Given the description of an element on the screen output the (x, y) to click on. 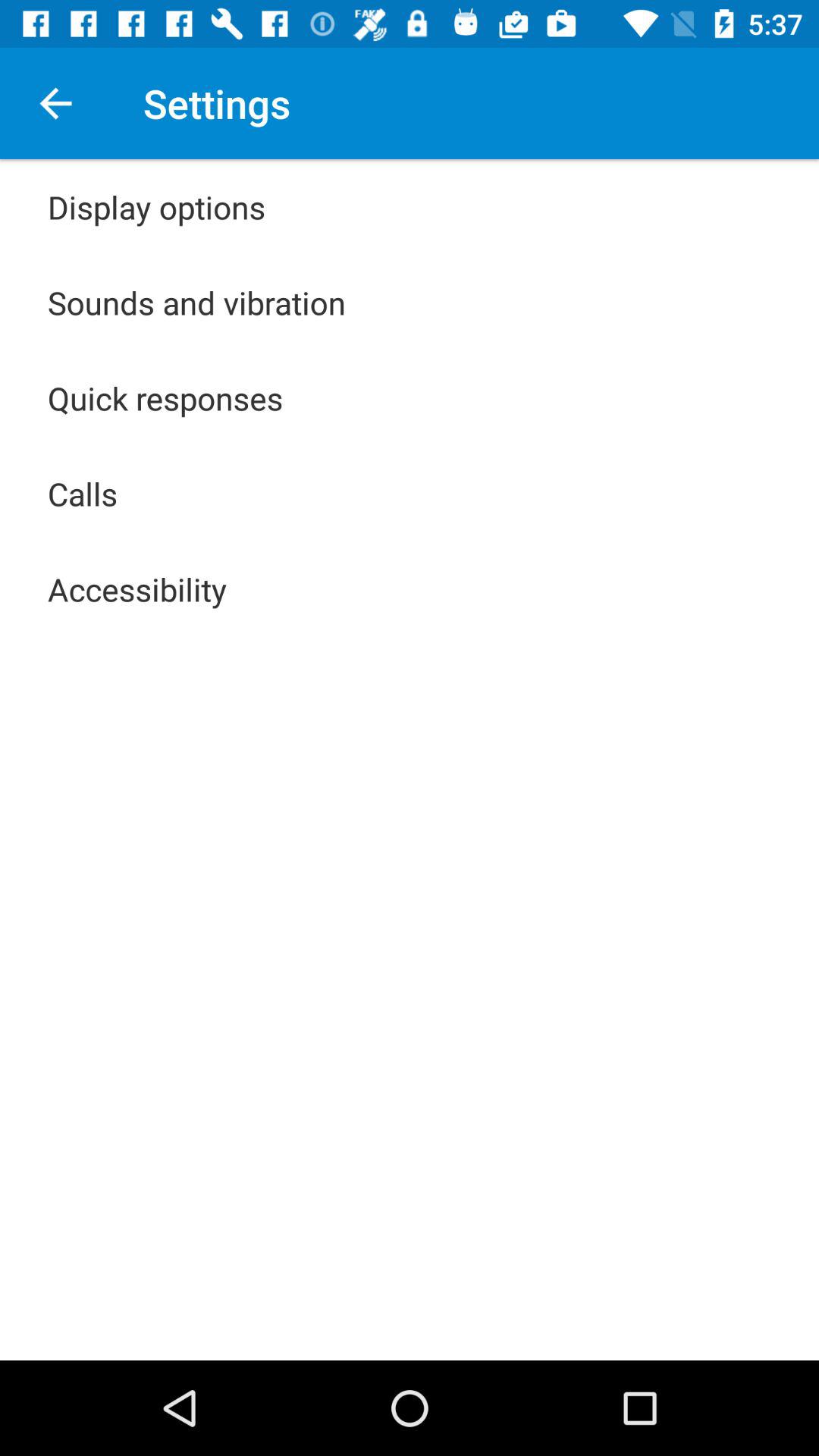
turn off the item below sounds and vibration item (165, 397)
